Given the description of an element on the screen output the (x, y) to click on. 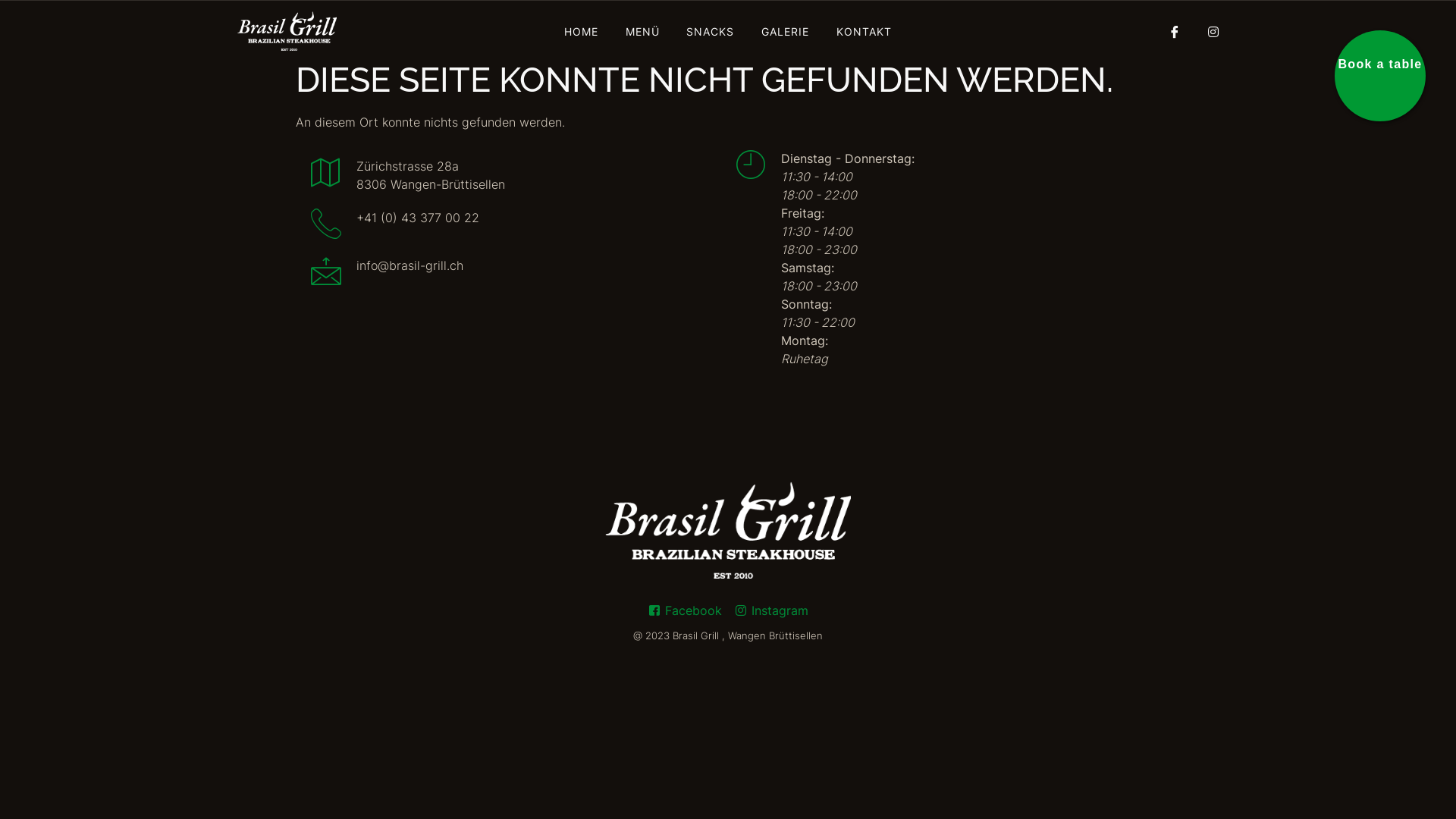
KONTAKT Element type: text (863, 30)
Facebook Element type: text (684, 610)
SNACKS Element type: text (710, 30)
HOME Element type: text (581, 30)
Book a table Element type: text (1379, 75)
info@brasil-grill.ch Element type: text (386, 272)
Instagram Element type: text (771, 610)
+41 (0) 43 377 00 22 Element type: text (394, 224)
GALERIE Element type: text (785, 30)
